Given the description of an element on the screen output the (x, y) to click on. 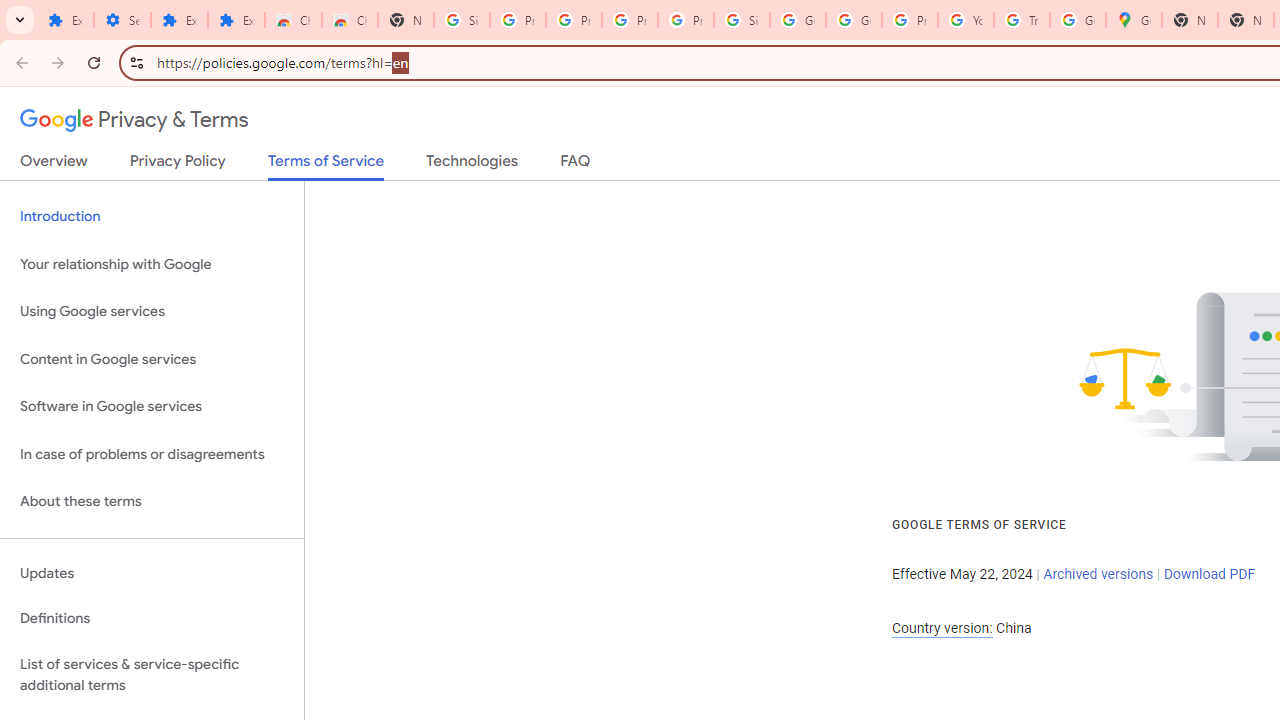
Chrome Web Store (293, 20)
List of services & service-specific additional terms (152, 674)
Using Google services (152, 312)
Extensions (235, 20)
Chrome Web Store - Themes (349, 20)
In case of problems or disagreements (152, 453)
Sign in - Google Accounts (742, 20)
